Given the description of an element on the screen output the (x, y) to click on. 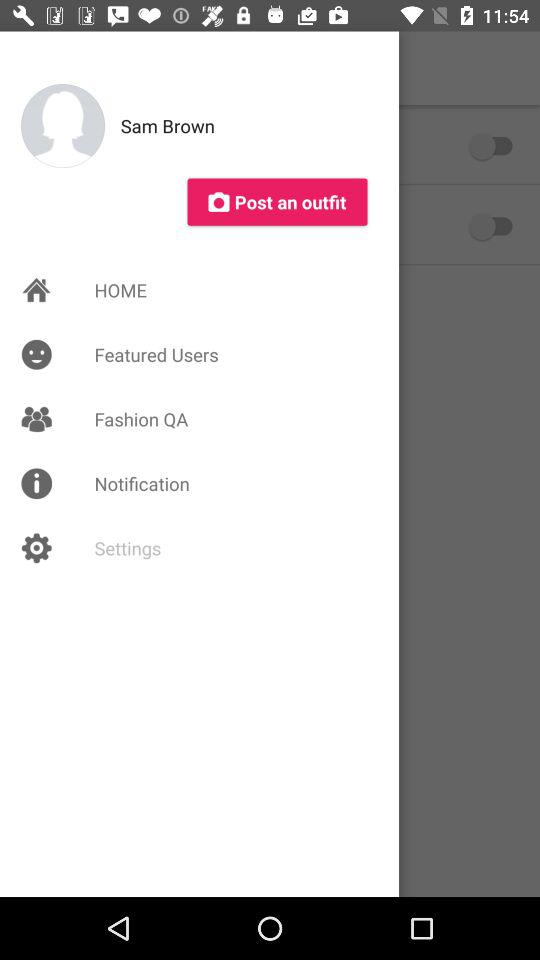
select the symbol left to featured users (36, 354)
